Given the description of an element on the screen output the (x, y) to click on. 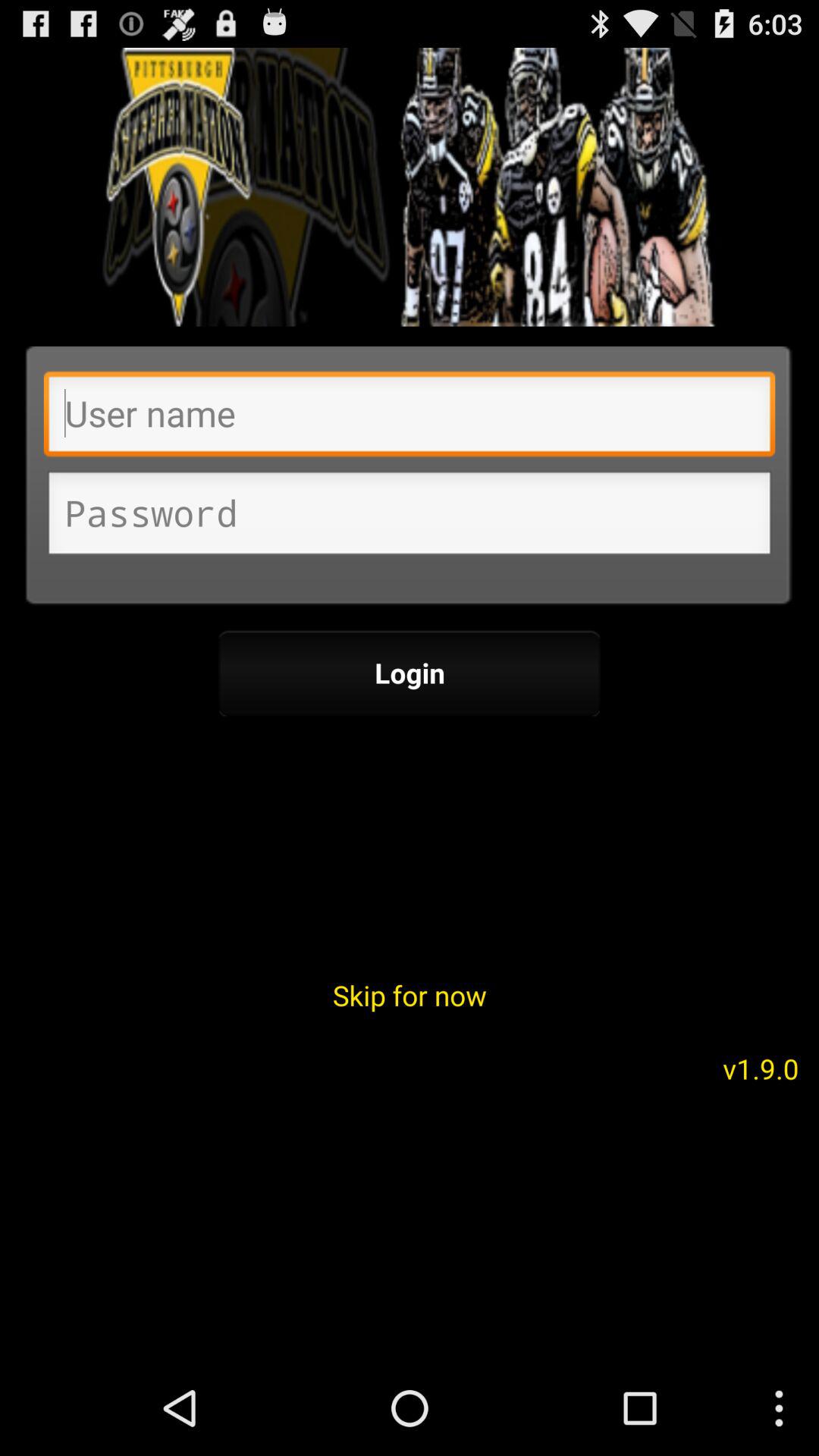
flip until the skip for now icon (409, 995)
